Given the description of an element on the screen output the (x, y) to click on. 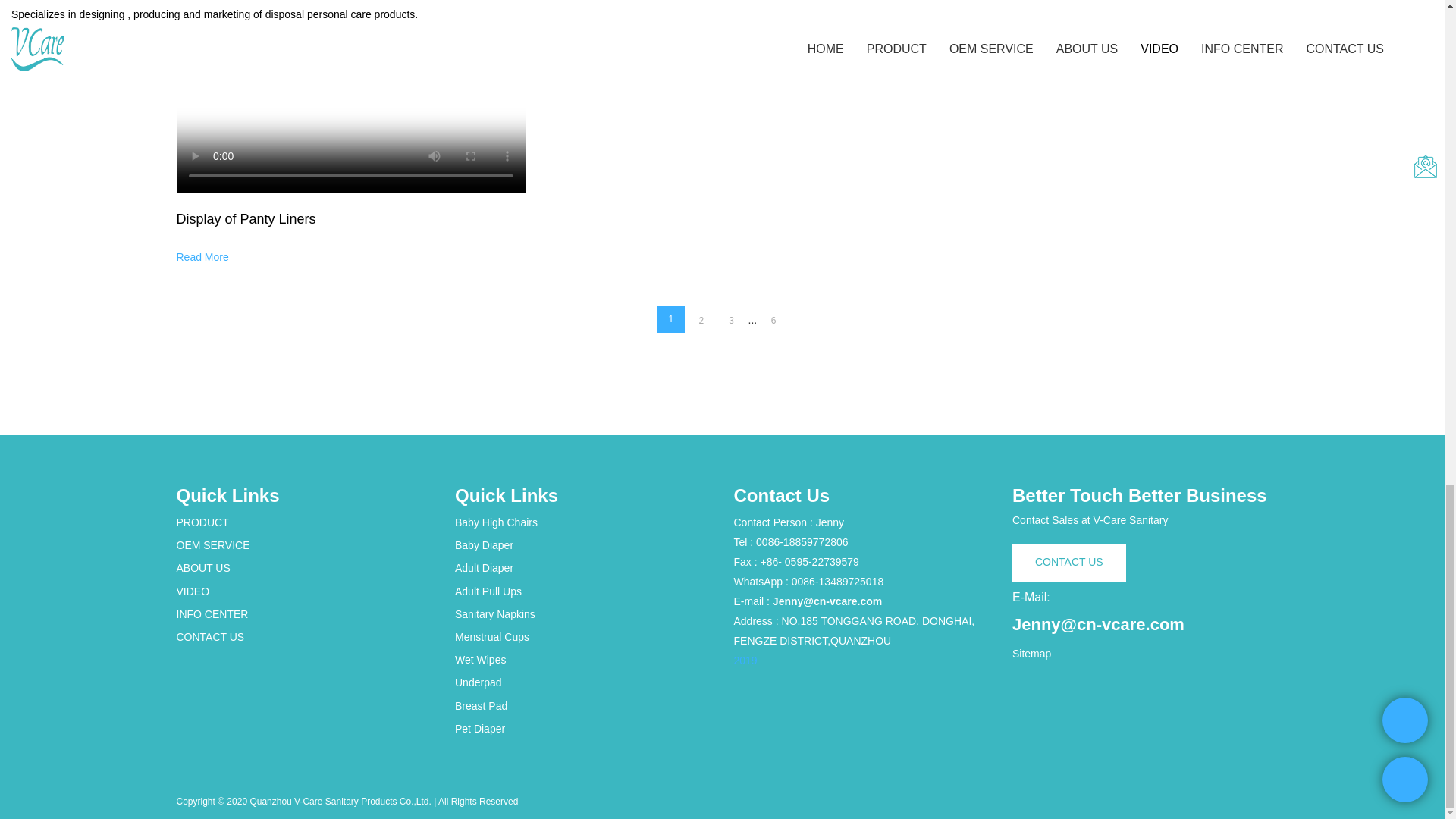
6 (773, 320)
3 (731, 320)
1 (671, 318)
Read More (202, 256)
2 (700, 320)
